Given the description of an element on the screen output the (x, y) to click on. 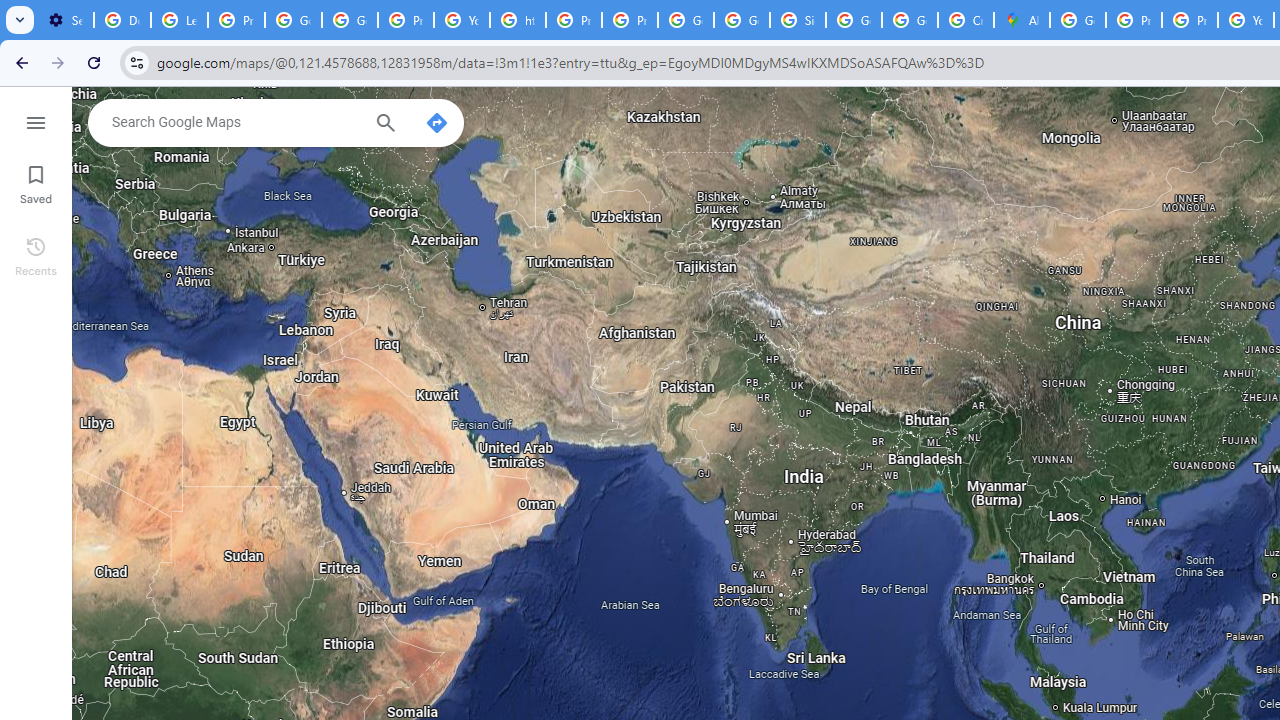
Privacy Help Center - Policies Help (1133, 20)
Search Google Maps (235, 121)
Recents (35, 254)
Google Account Help (293, 20)
Settings - Performance (65, 20)
Delete photos & videos - Computer - Google Photos Help (122, 20)
